Given the description of an element on the screen output the (x, y) to click on. 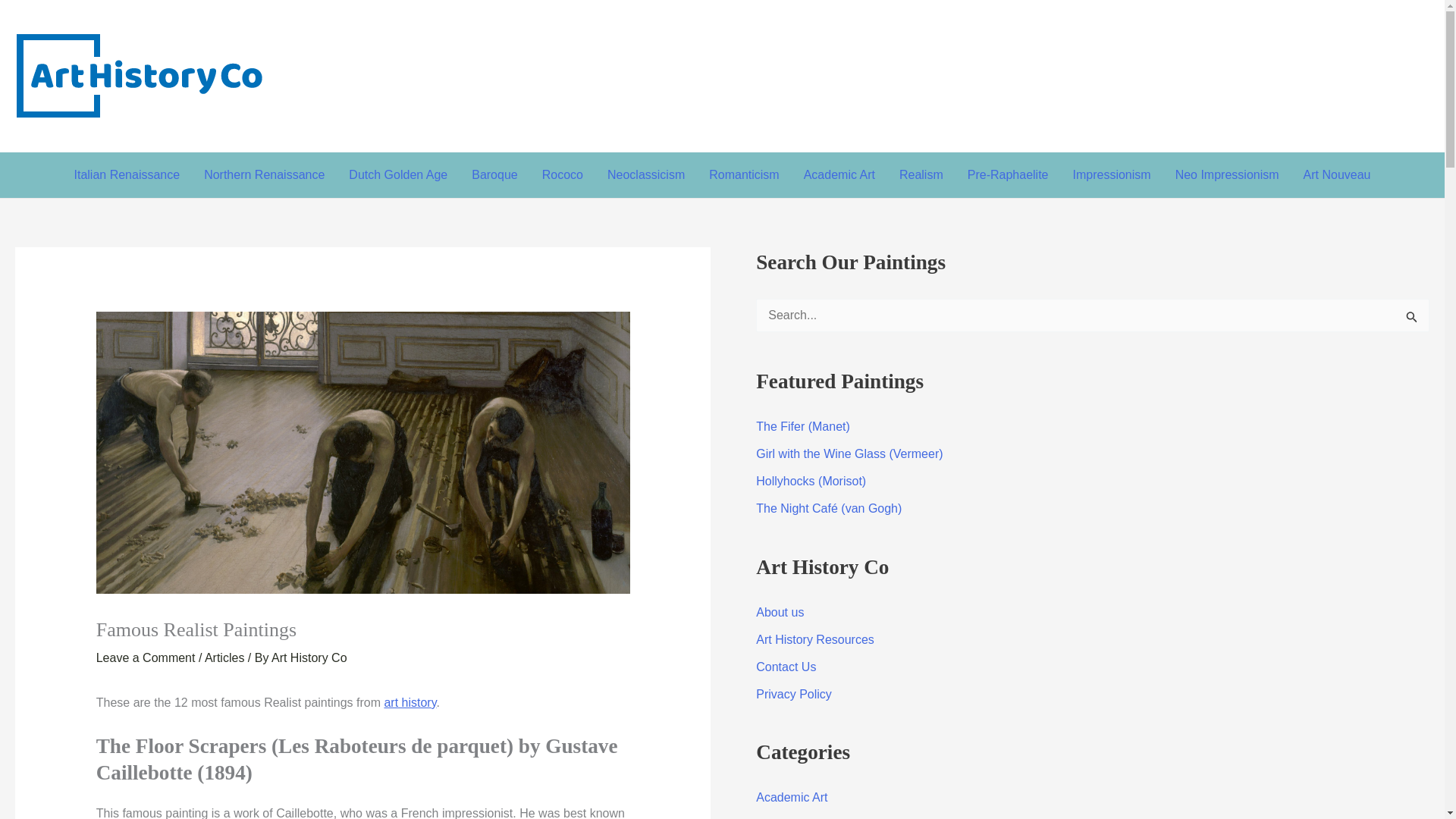
Art Nouveau (1337, 175)
Rococo (562, 175)
Art History Co (308, 657)
Pre-Raphaelite (1008, 175)
View all posts by Art History Co (308, 657)
Neoclassicism (646, 175)
Impressionism (1110, 175)
Articles (224, 657)
Realism (920, 175)
Northern Renaissance (264, 175)
Italian Renaissance (127, 175)
art history (409, 702)
Academic Art (839, 175)
Baroque (494, 175)
Leave a Comment (145, 657)
